Given the description of an element on the screen output the (x, y) to click on. 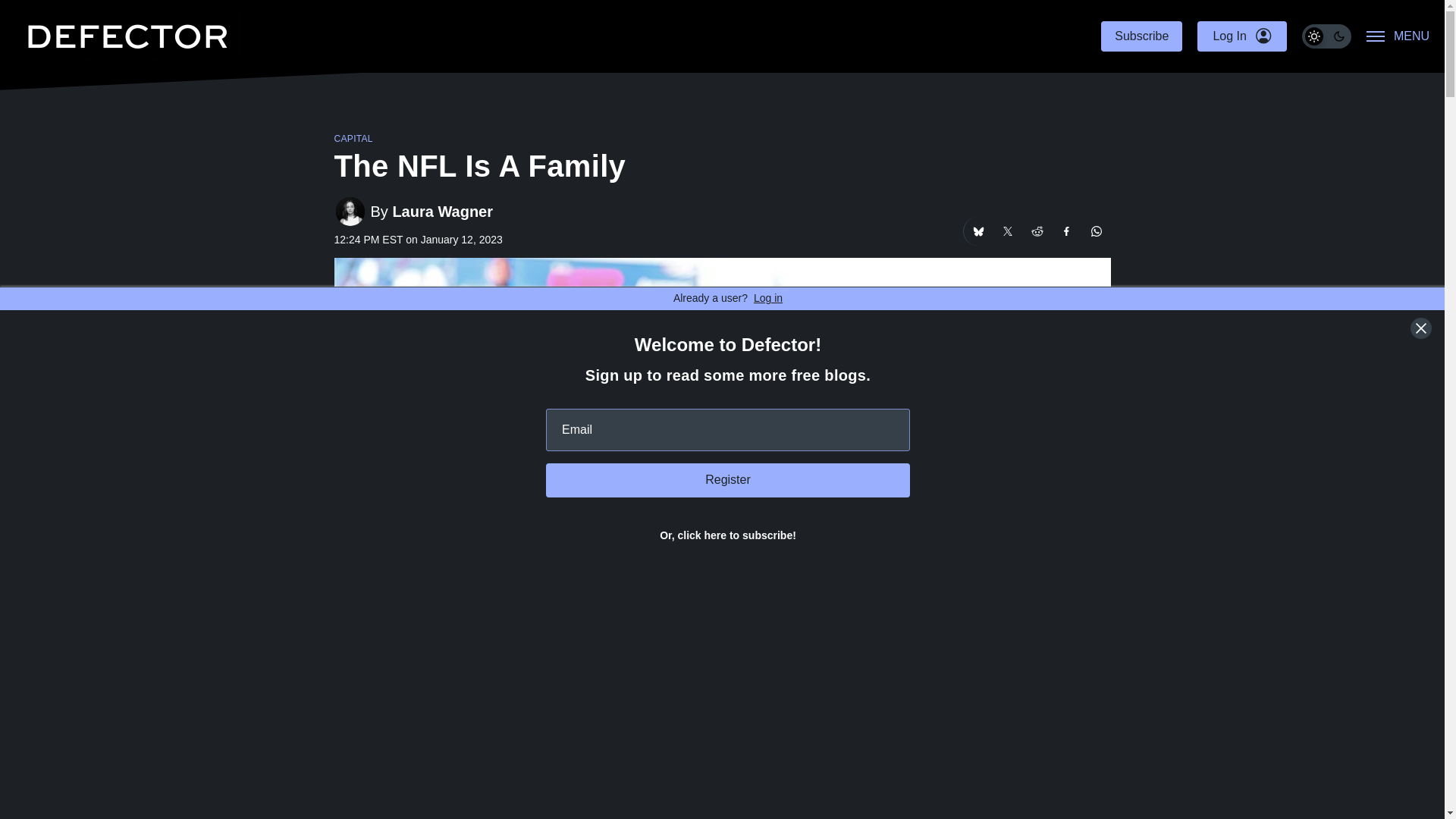
Share on Facebook (1066, 231)
CAPITAL (352, 138)
Share on Reddit (1036, 231)
Log In (1240, 36)
Subscribe (1141, 36)
Laura Wagner (442, 211)
MENU (1398, 36)
Share on Bluesky (976, 231)
